Given the description of an element on the screen output the (x, y) to click on. 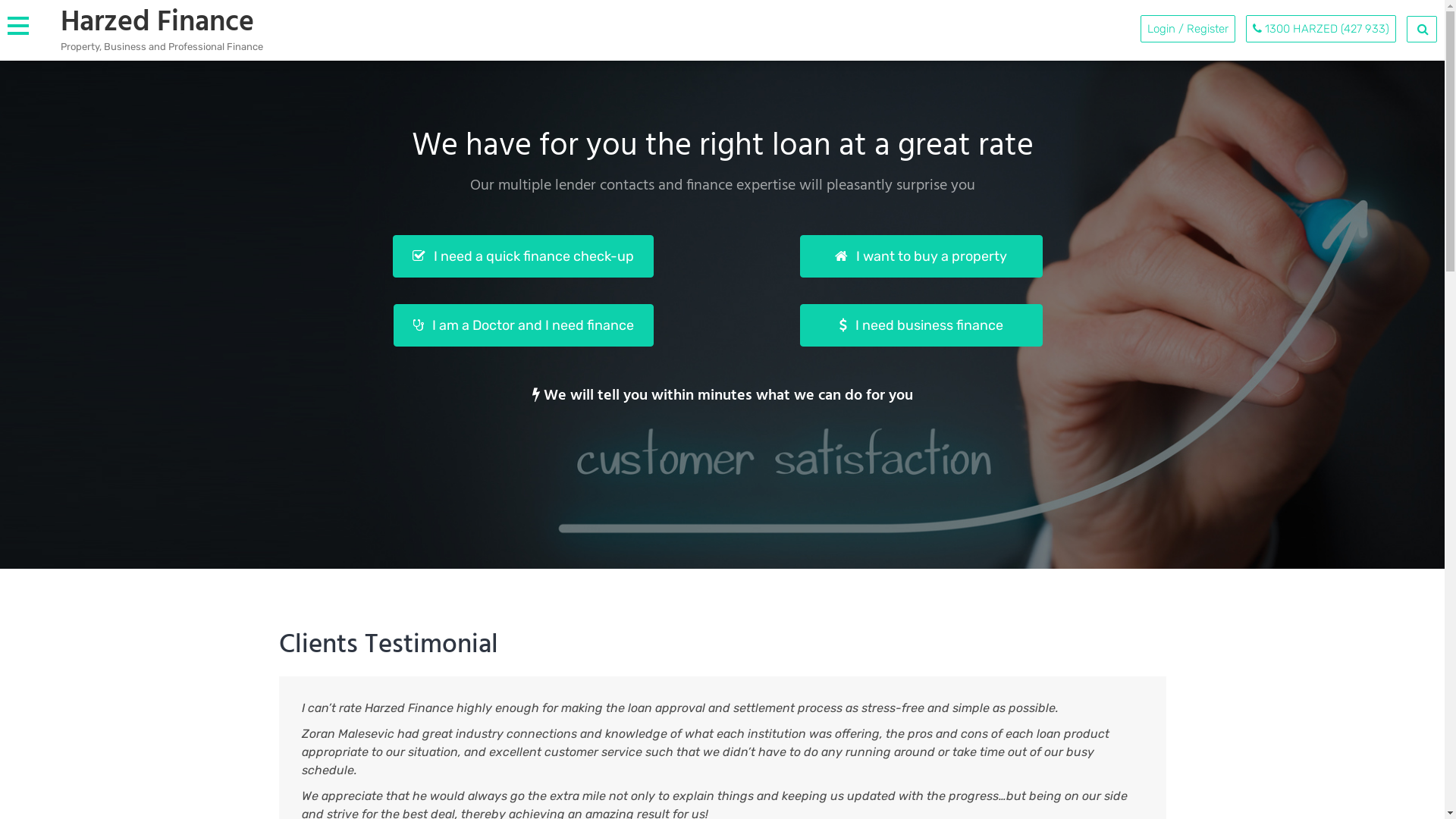
I want to buy a property Element type: text (921, 256)
I need business finance Element type: text (921, 325)
Login / Register Element type: text (1187, 28)
Skip to content Element type: text (0, 0)
I am a Doctor and I need finance Element type: text (523, 325)
I need a quick finance check-up Element type: text (522, 256)
Harzed Finance Element type: text (157, 23)
1300 HARZED (427 933) Element type: text (1320, 28)
